Given the description of an element on the screen output the (x, y) to click on. 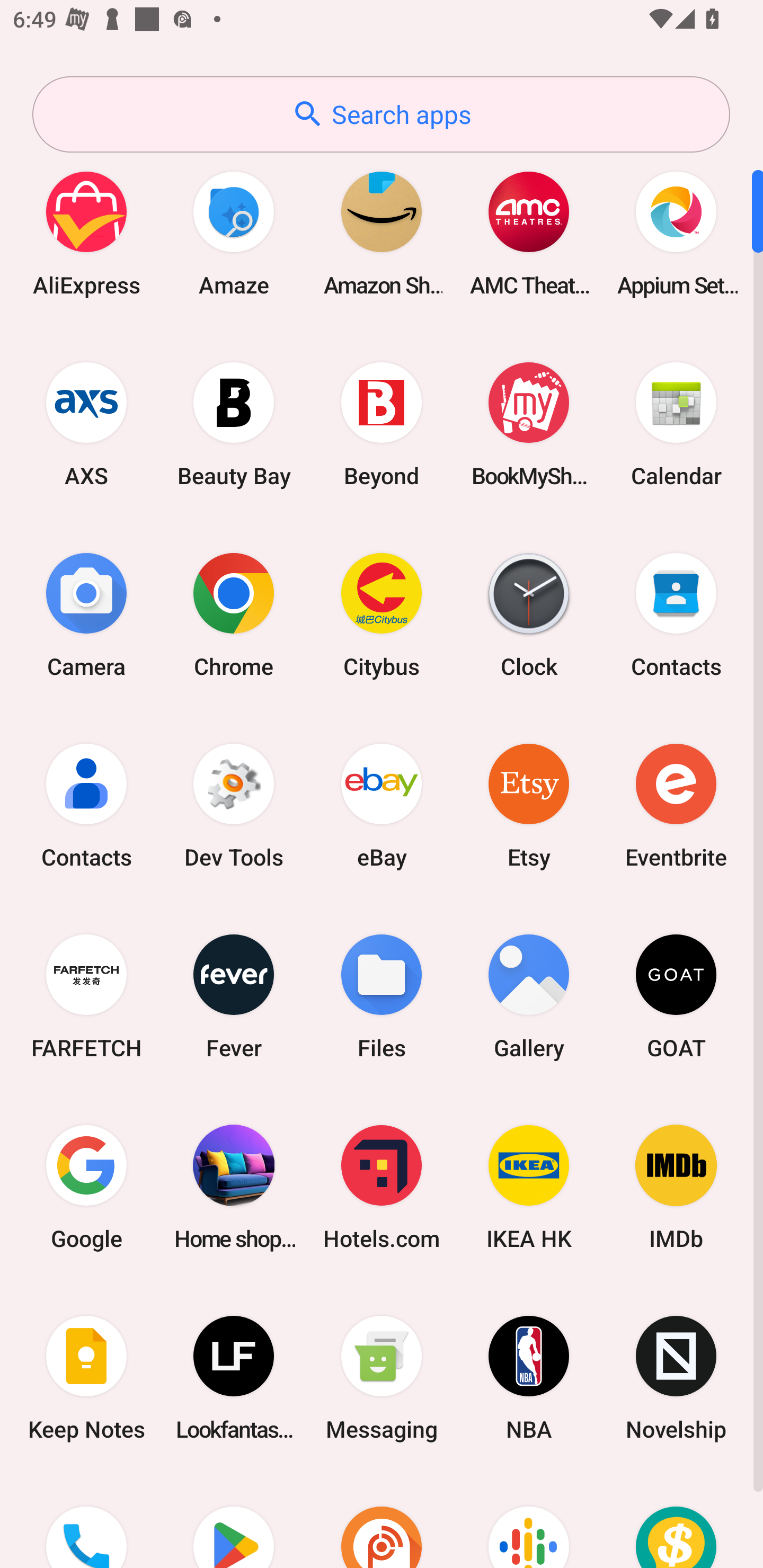
  Search apps (381, 114)
AliExpress (86, 233)
Amaze (233, 233)
Amazon Shopping (381, 233)
AMC Theatres (528, 233)
Appium Settings (676, 233)
AXS (86, 424)
Beauty Bay (233, 424)
Beyond (381, 424)
BookMyShow (528, 424)
Calendar (676, 424)
Camera (86, 614)
Chrome (233, 614)
Citybus (381, 614)
Clock (528, 614)
Contacts (676, 614)
Contacts (86, 805)
Dev Tools (233, 805)
eBay (381, 805)
Etsy (528, 805)
Eventbrite (676, 805)
FARFETCH (86, 996)
Fever (233, 996)
Files (381, 996)
Gallery (528, 996)
GOAT (676, 996)
Google (86, 1186)
Home shopping (233, 1186)
Hotels.com (381, 1186)
IKEA HK (528, 1186)
IMDb (676, 1186)
Keep Notes (86, 1377)
Lookfantastic (233, 1377)
Messaging (381, 1377)
NBA (528, 1377)
Novelship (676, 1377)
Phone (86, 1520)
Play Store (233, 1520)
Podcast Addict (381, 1520)
Podcasts (528, 1520)
Price (676, 1520)
